Given the description of an element on the screen output the (x, y) to click on. 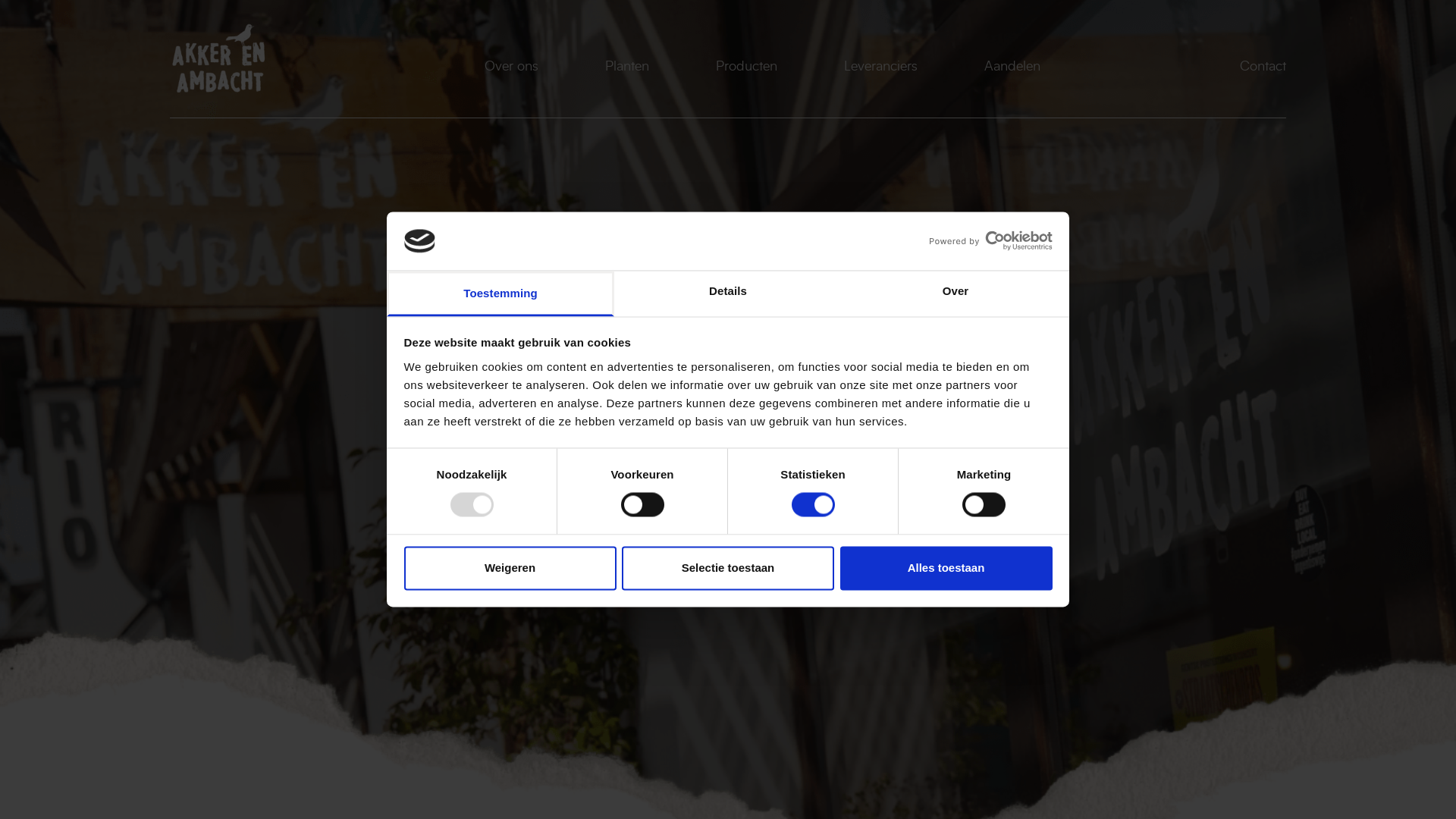
Alles toestaan Element type: text (946, 567)
Producten Element type: text (746, 66)
Selectie toestaan Element type: text (727, 567)
Details Element type: text (727, 293)
Over Element type: text (955, 293)
Planten Element type: text (627, 66)
Aandelen Element type: text (1012, 66)
Over ons Element type: text (511, 66)
Contact Element type: text (1262, 66)
Weigeren Element type: text (509, 567)
Toestemming Element type: text (500, 293)
Leveranciers Element type: text (880, 66)
